Given the description of an element on the screen output the (x, y) to click on. 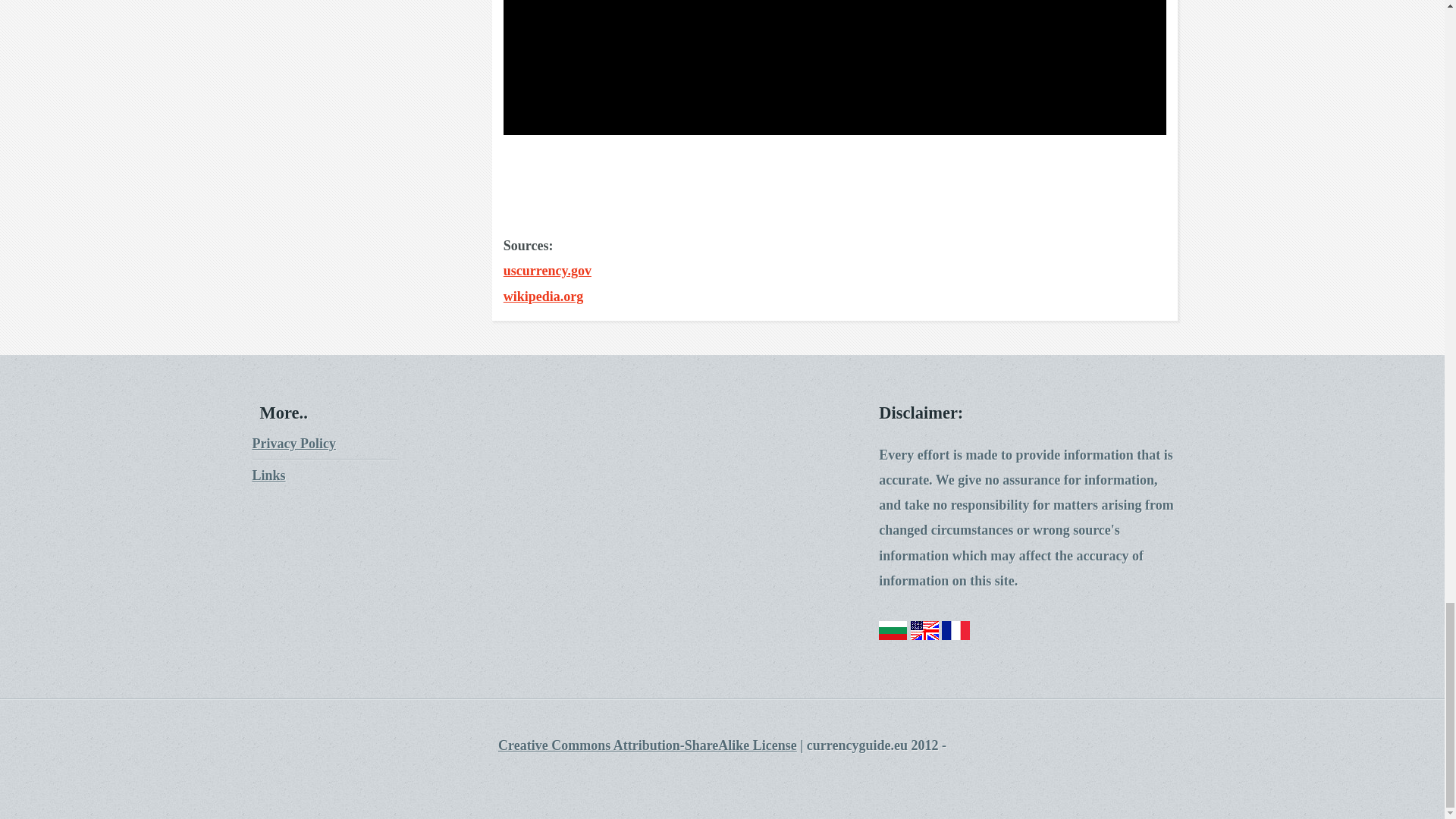
Creative Commons Attribution-ShareAlike License (646, 744)
wikipedia.org (543, 295)
Links (268, 475)
uscurrency.gov (547, 270)
Privacy Policy (292, 443)
